Given the description of an element on the screen output the (x, y) to click on. 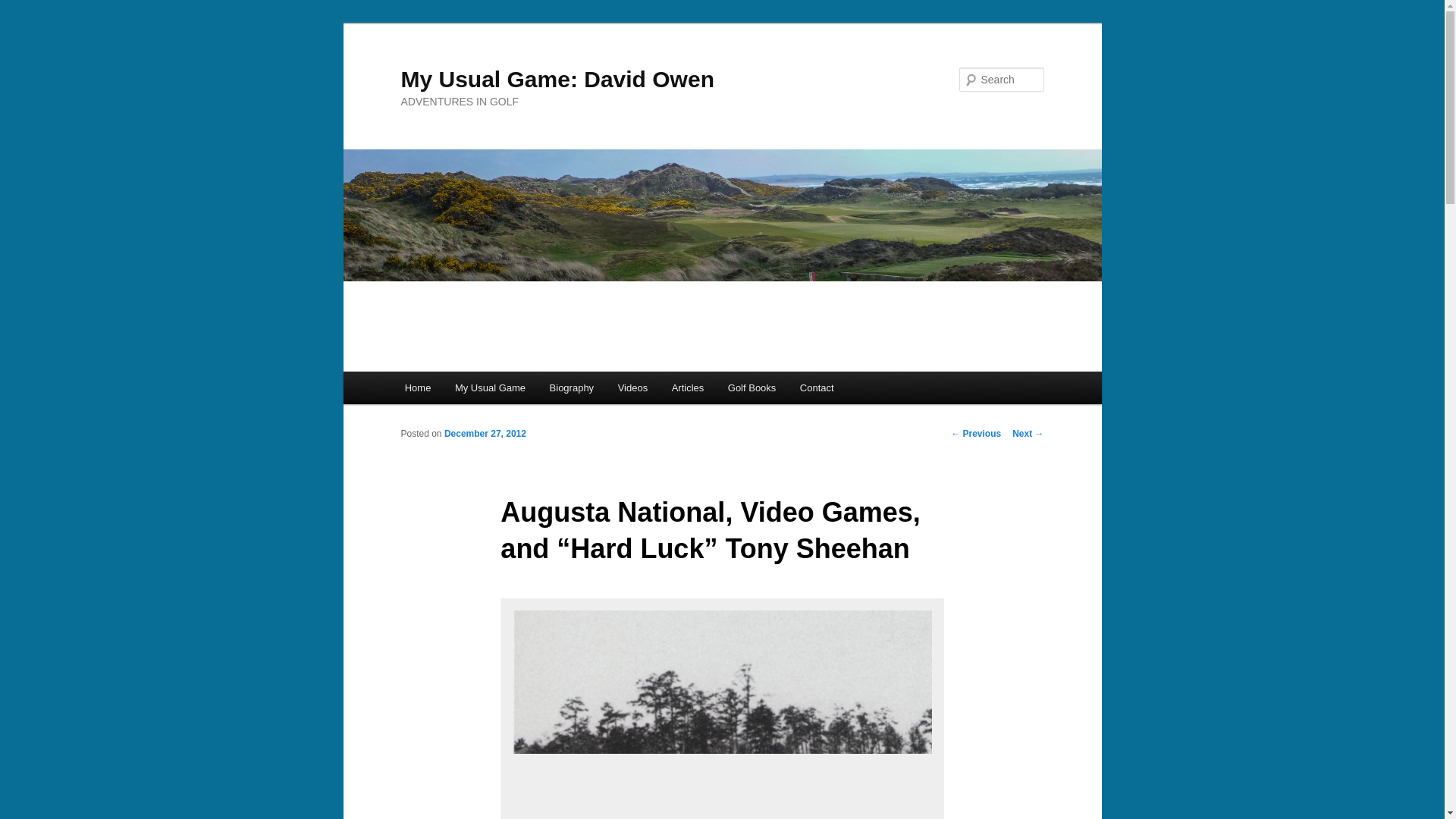
Biography (571, 387)
7:33 pm (484, 433)
Contact (816, 387)
Articles (687, 387)
Home (417, 387)
Videos (632, 387)
Search (24, 8)
My Usual Game: David Owen (556, 78)
Golf Books (751, 387)
